Given the description of an element on the screen output the (x, y) to click on. 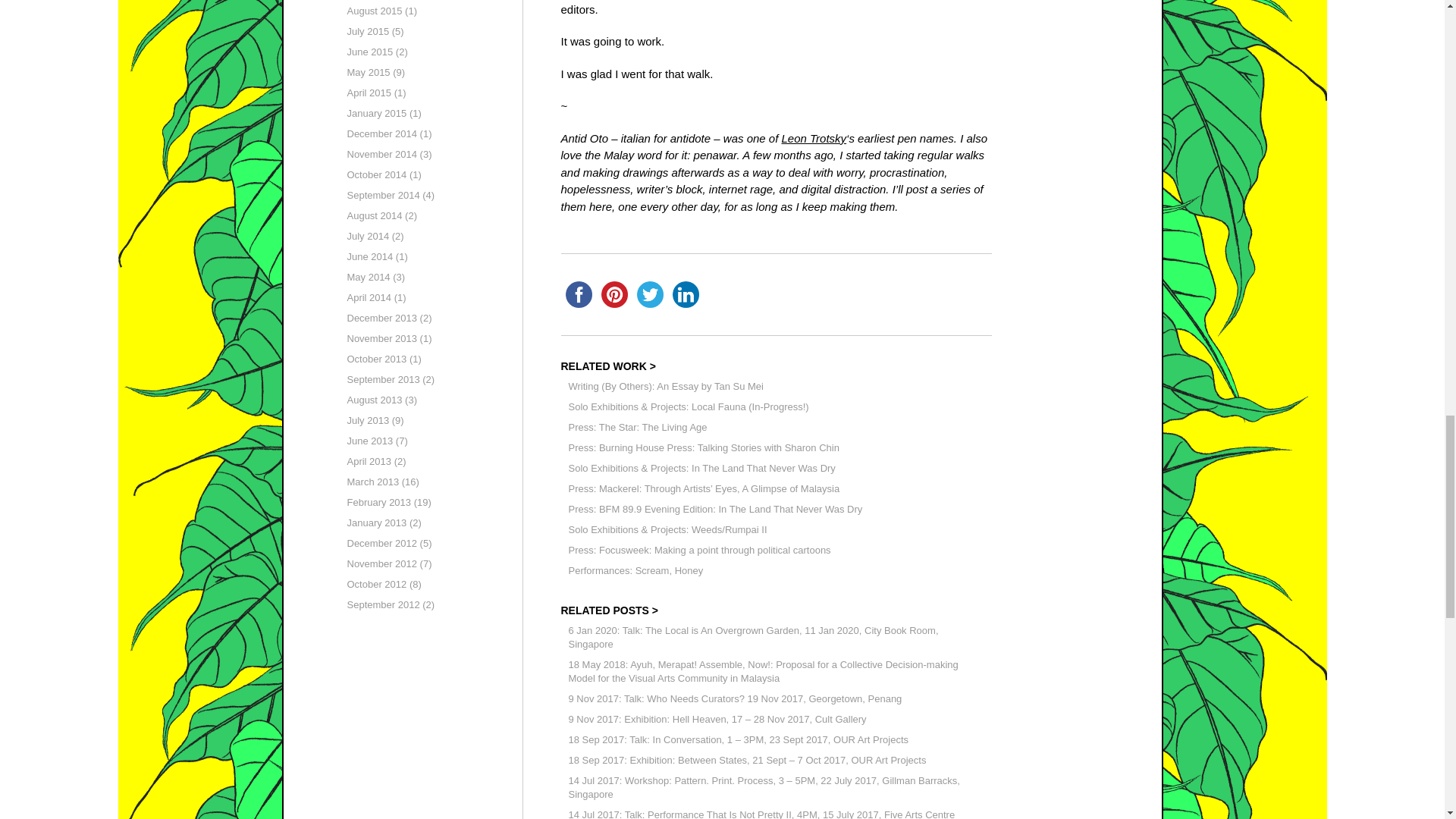
Leon Trotsky (814, 137)
An Essay by Tan Su Mei (665, 387)
Press: The Star: The Living Age (638, 427)
Press: Burning House Press: Talking Stories with Sharon Chin (704, 448)
Performances: Scream, Honey (636, 571)
Twitter (649, 294)
Pinterest (613, 294)
Facebook (578, 294)
Press: Focusweek: Making a point through political cartoons (700, 550)
LinkedIn (684, 294)
